Given the description of an element on the screen output the (x, y) to click on. 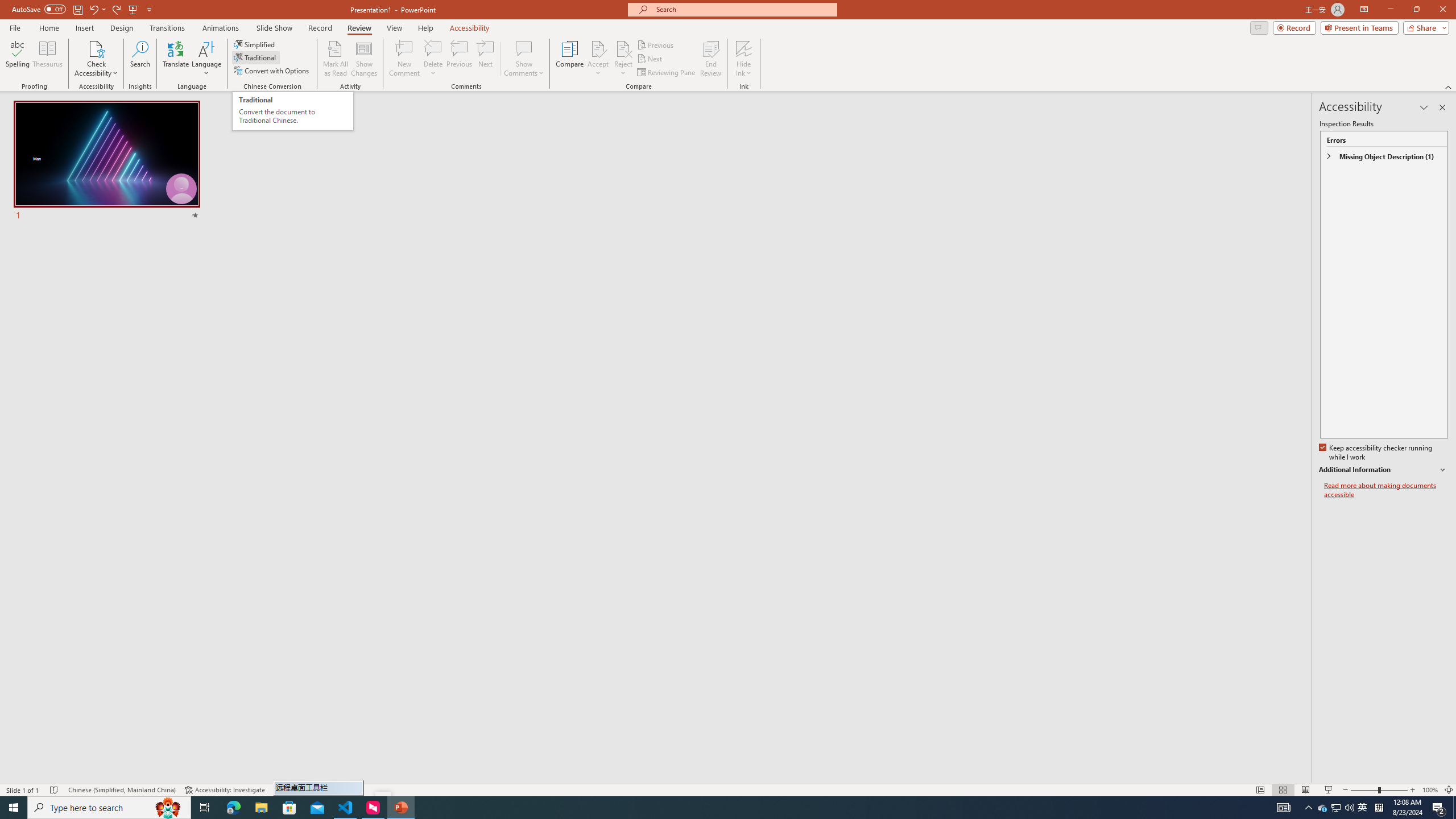
Reject (622, 58)
Reject Change (622, 48)
Read more about making documents accessible (1385, 489)
Hide Ink (743, 58)
